Given the description of an element on the screen output the (x, y) to click on. 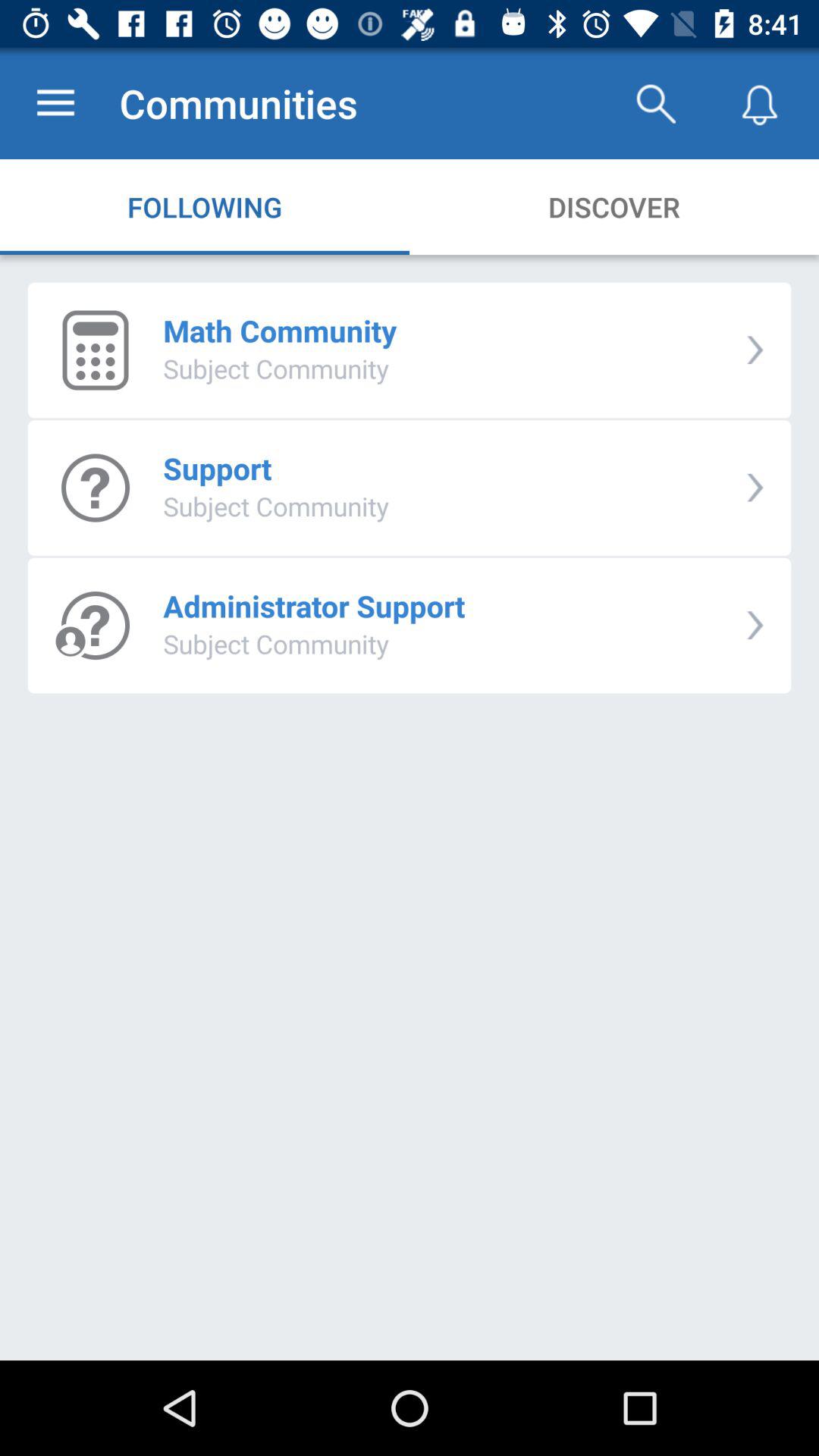
tap the item to the right of subject community item (755, 487)
